Given the description of an element on the screen output the (x, y) to click on. 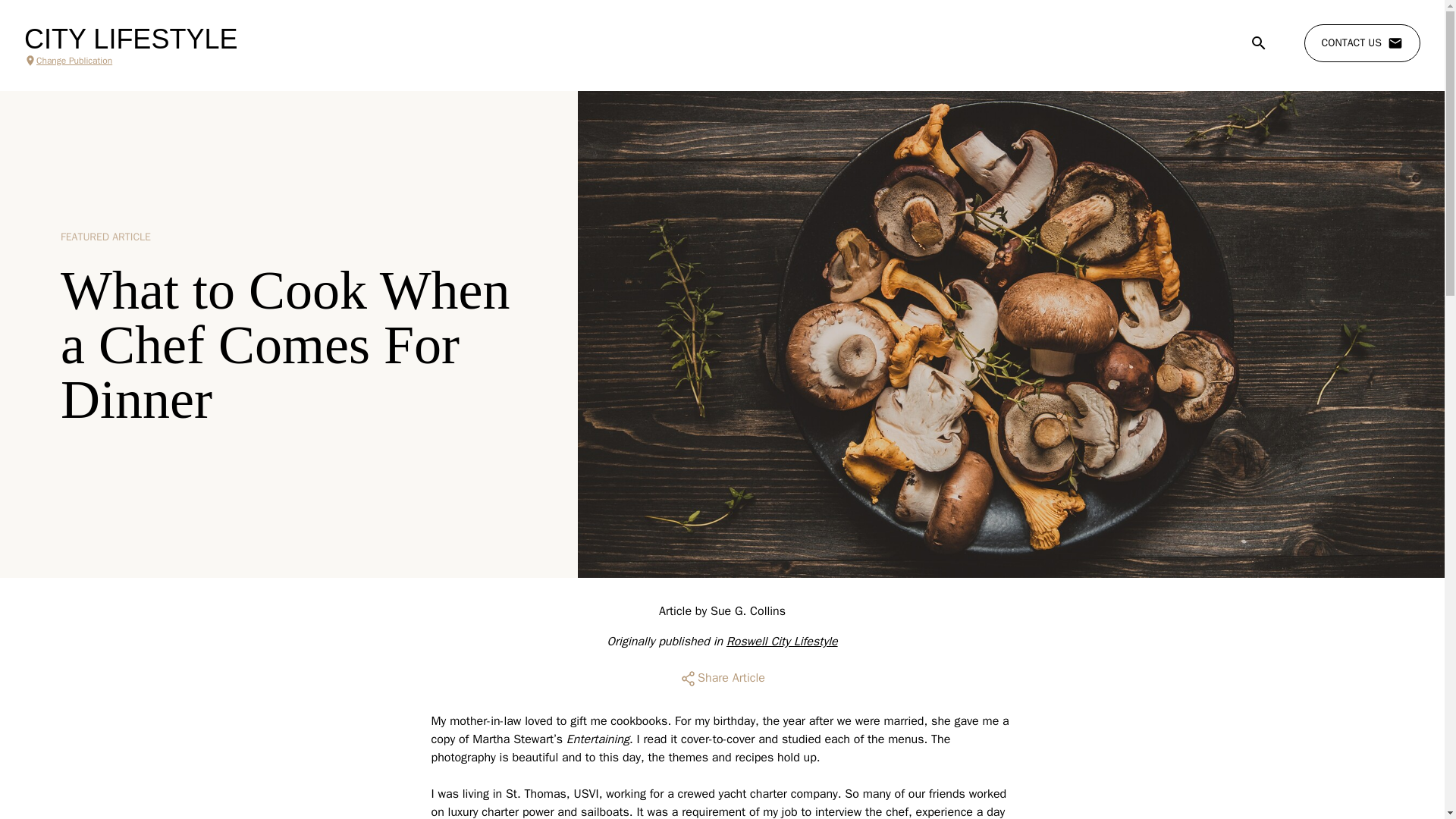
Roswell City Lifestyle (782, 641)
CITY LIFESTYLE (130, 39)
Change Publication (130, 60)
Share Article (722, 678)
CONTACT US (1362, 43)
